Given the description of an element on the screen output the (x, y) to click on. 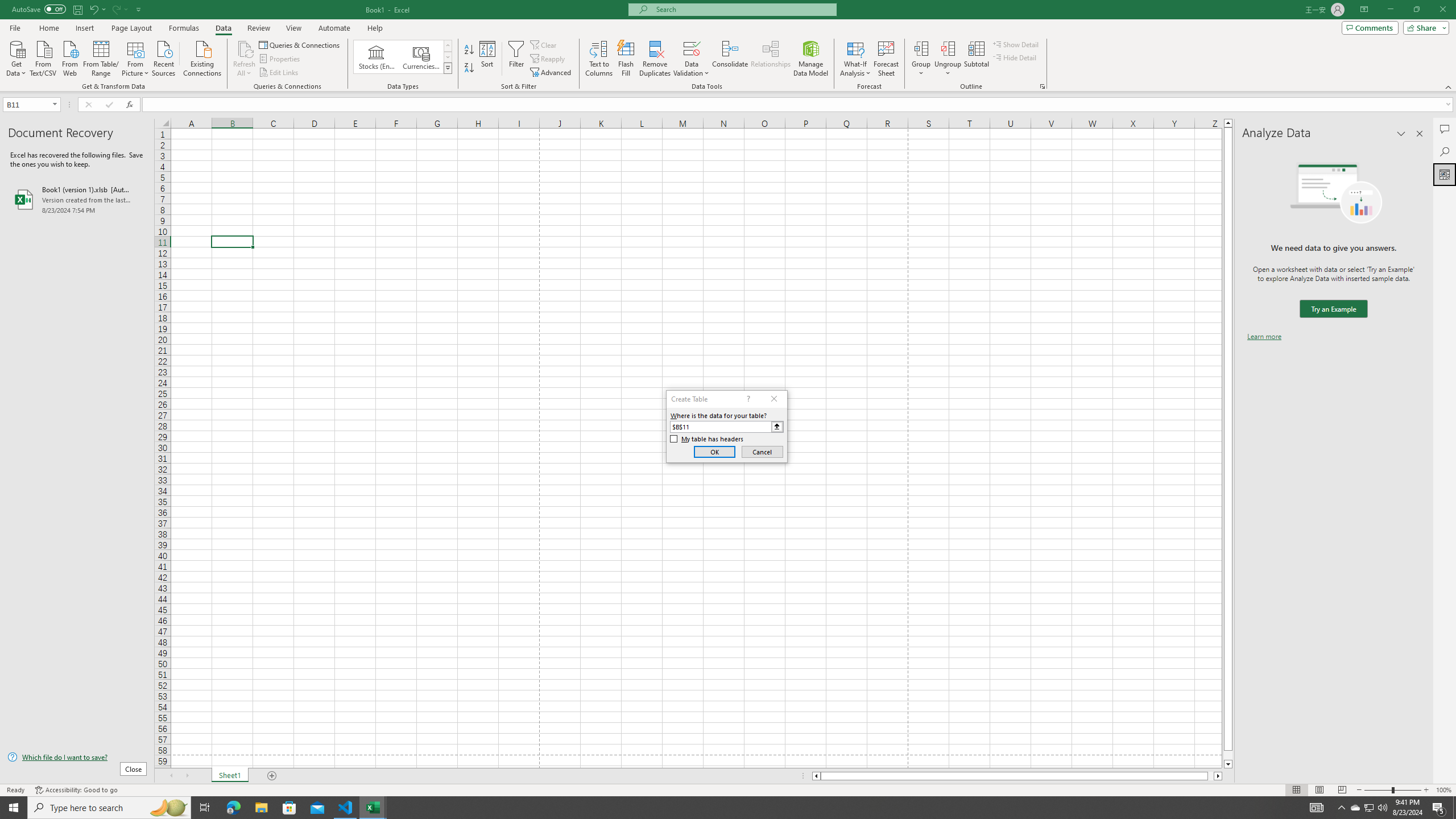
Recent Sources (163, 57)
Relationships (770, 58)
Group... (921, 58)
Row Down (448, 56)
Consolidate... (729, 58)
Data Validation... (691, 58)
Data Types (448, 67)
Advanced... (551, 72)
